Given the description of an element on the screen output the (x, y) to click on. 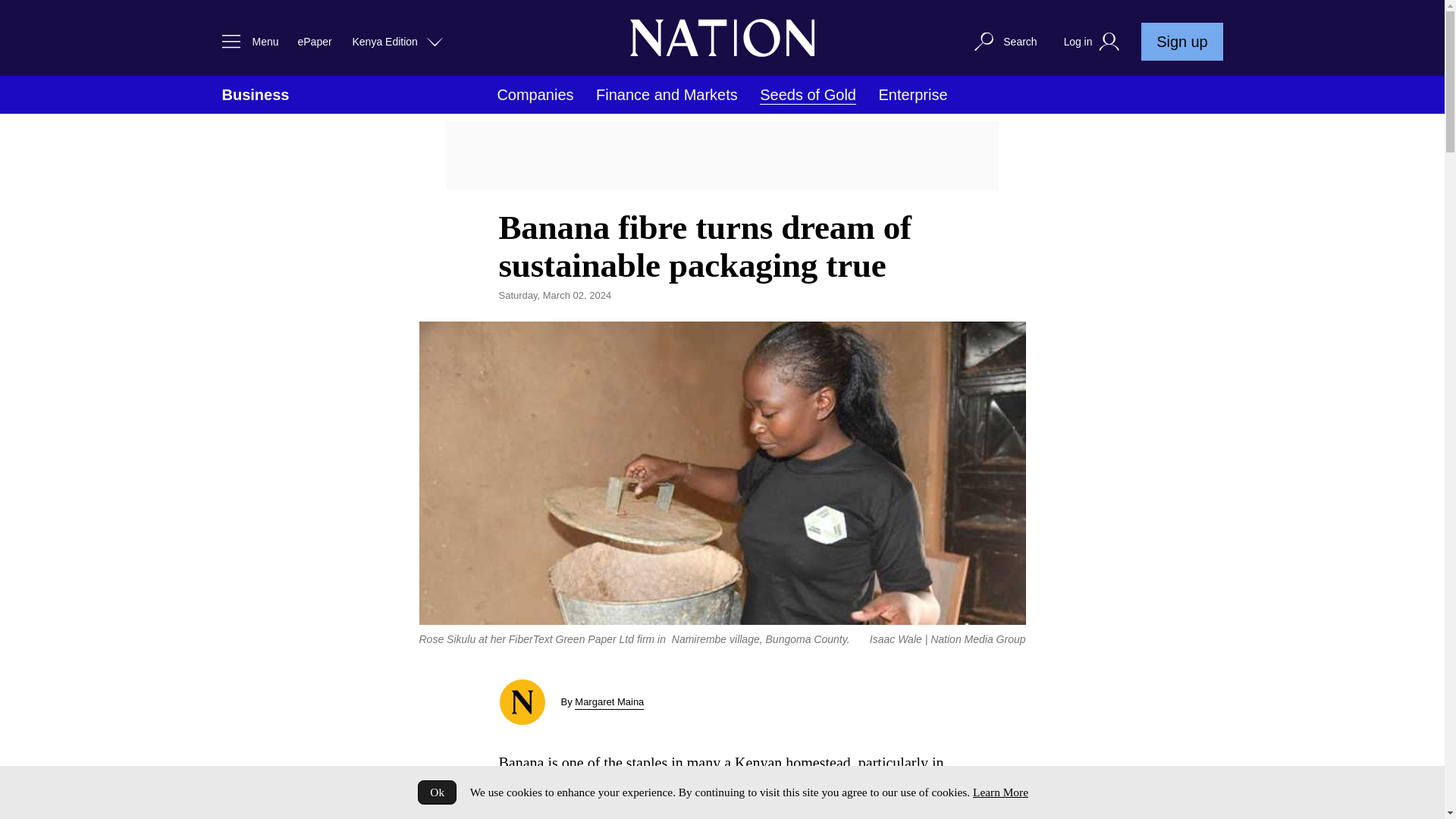
Sign up (1182, 41)
Enterprise (912, 94)
Search (1003, 41)
Menu (246, 41)
Learn More (999, 791)
Kenya Edition (398, 41)
Log in (1094, 41)
Business (254, 94)
Ok (437, 792)
Seeds of Gold (808, 95)
